Given the description of an element on the screen output the (x, y) to click on. 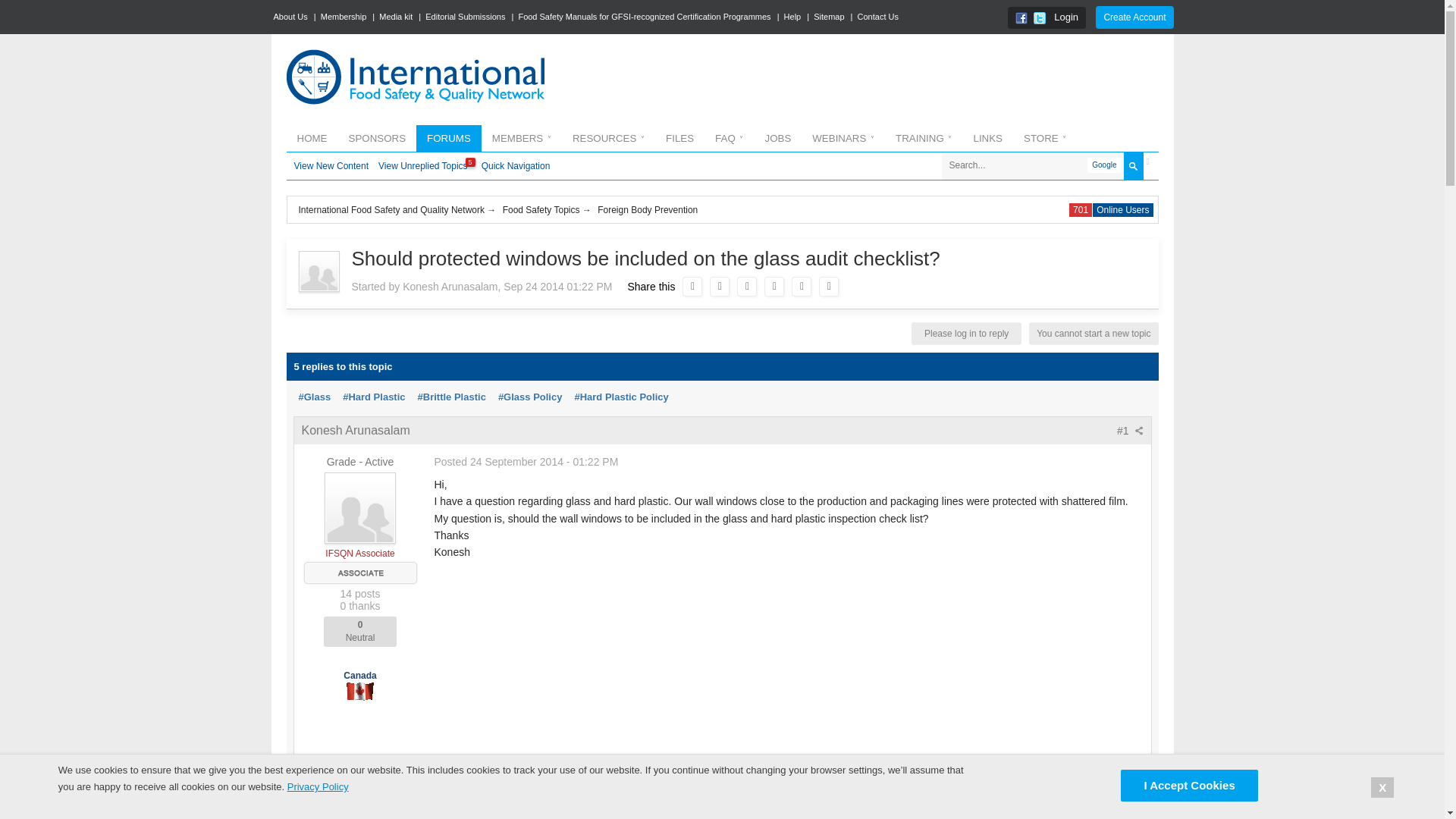
HOME (311, 138)
Sitemap (828, 16)
FILES (679, 138)
Membership (344, 16)
FORUMS (448, 138)
Help (793, 16)
Media kit (396, 16)
SPONSORS (376, 138)
Contact Us (879, 16)
